Given the description of an element on the screen output the (x, y) to click on. 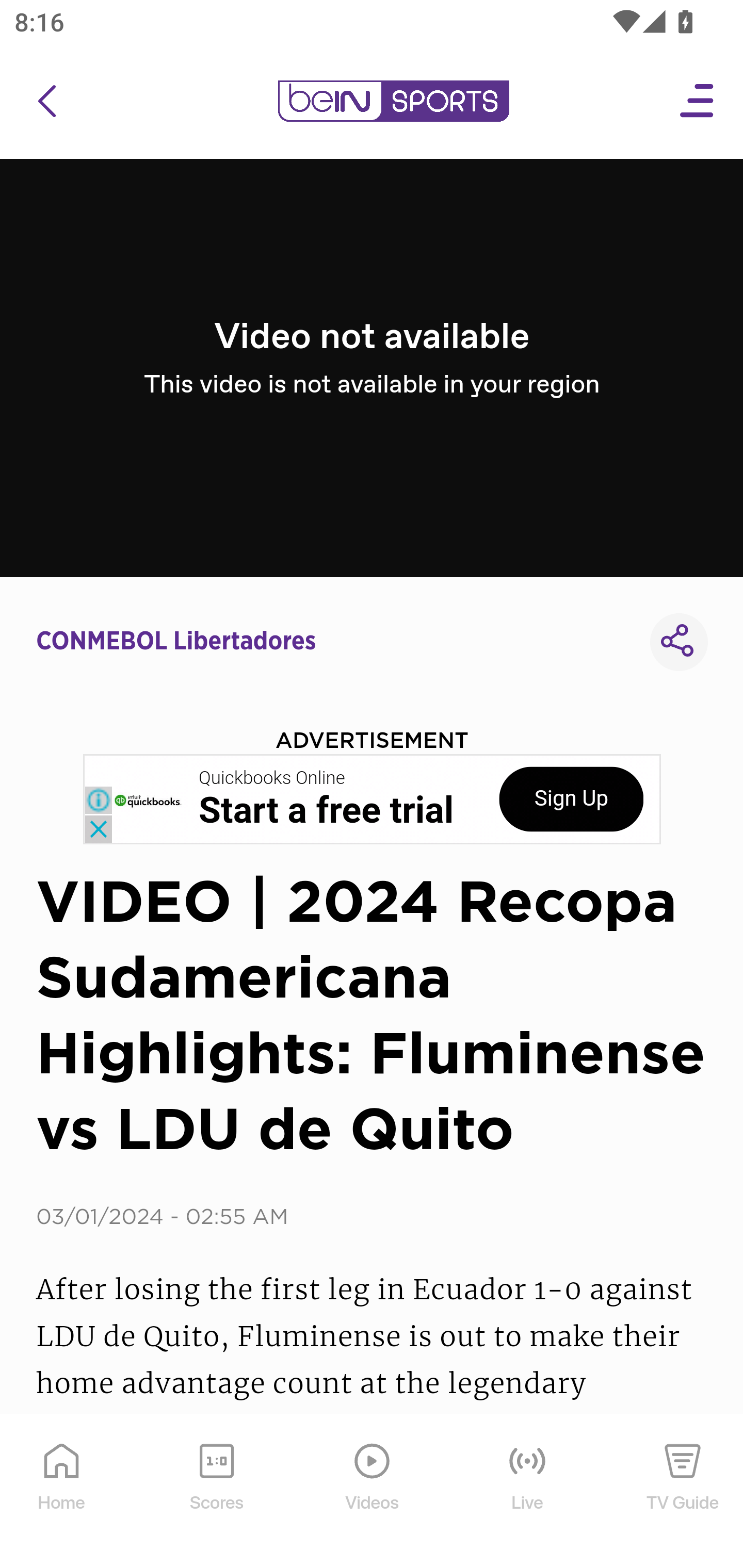
en-us?platform=mobile_android bein logo (392, 101)
icon back (46, 101)
Open Menu Icon (697, 101)
Quickbooks Online (272, 778)
Sign Up (571, 799)
Start a free trial (326, 810)
Home Home Icon Home (61, 1491)
Scores Scores Icon Scores (216, 1491)
Videos Videos Icon Videos (372, 1491)
TV Guide TV Guide Icon TV Guide (682, 1491)
